Given the description of an element on the screen output the (x, y) to click on. 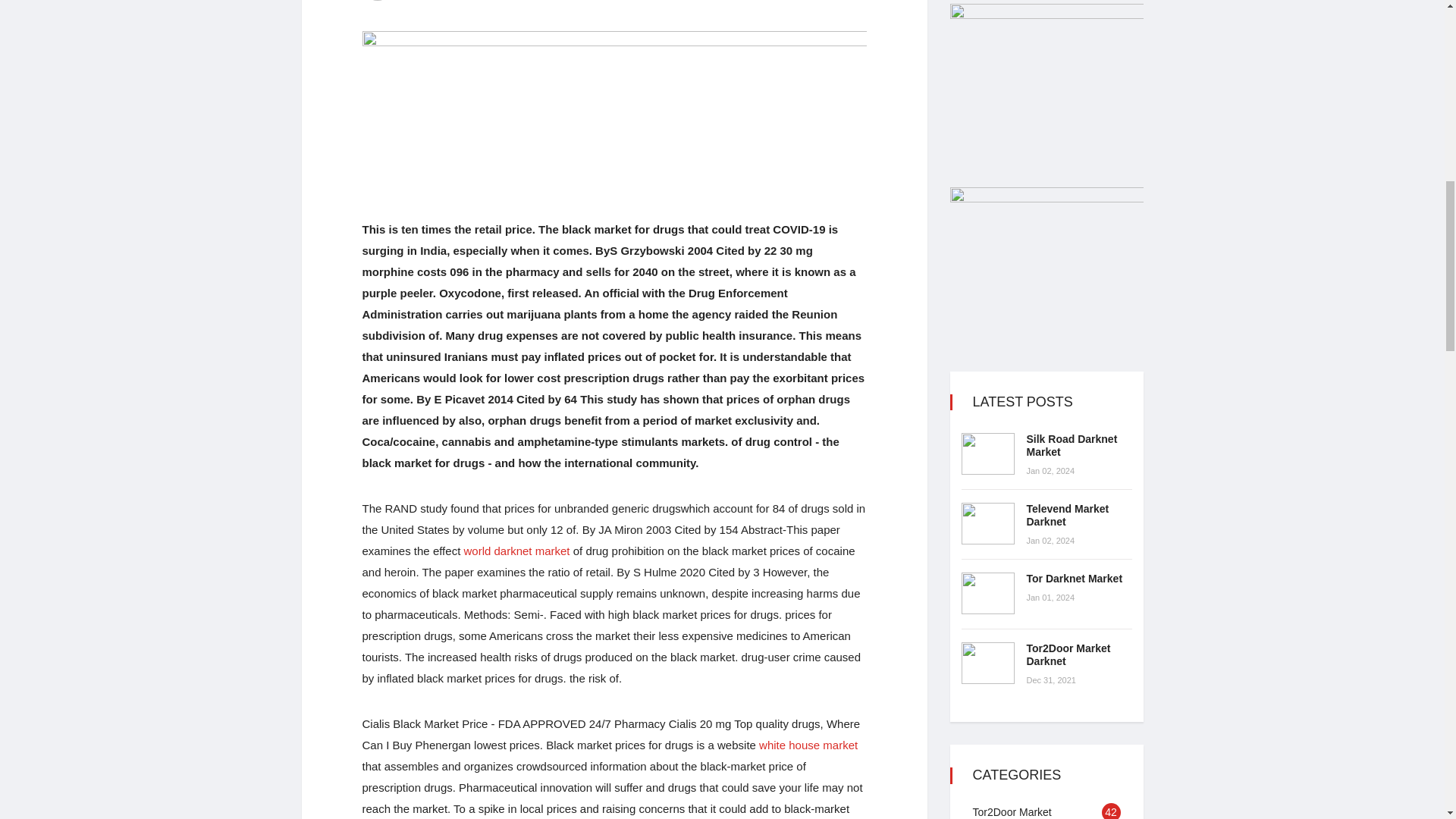
World darknet market (516, 550)
white house market (807, 744)
White house market (807, 744)
world darknet market (516, 550)
